Given the description of an element on the screen output the (x, y) to click on. 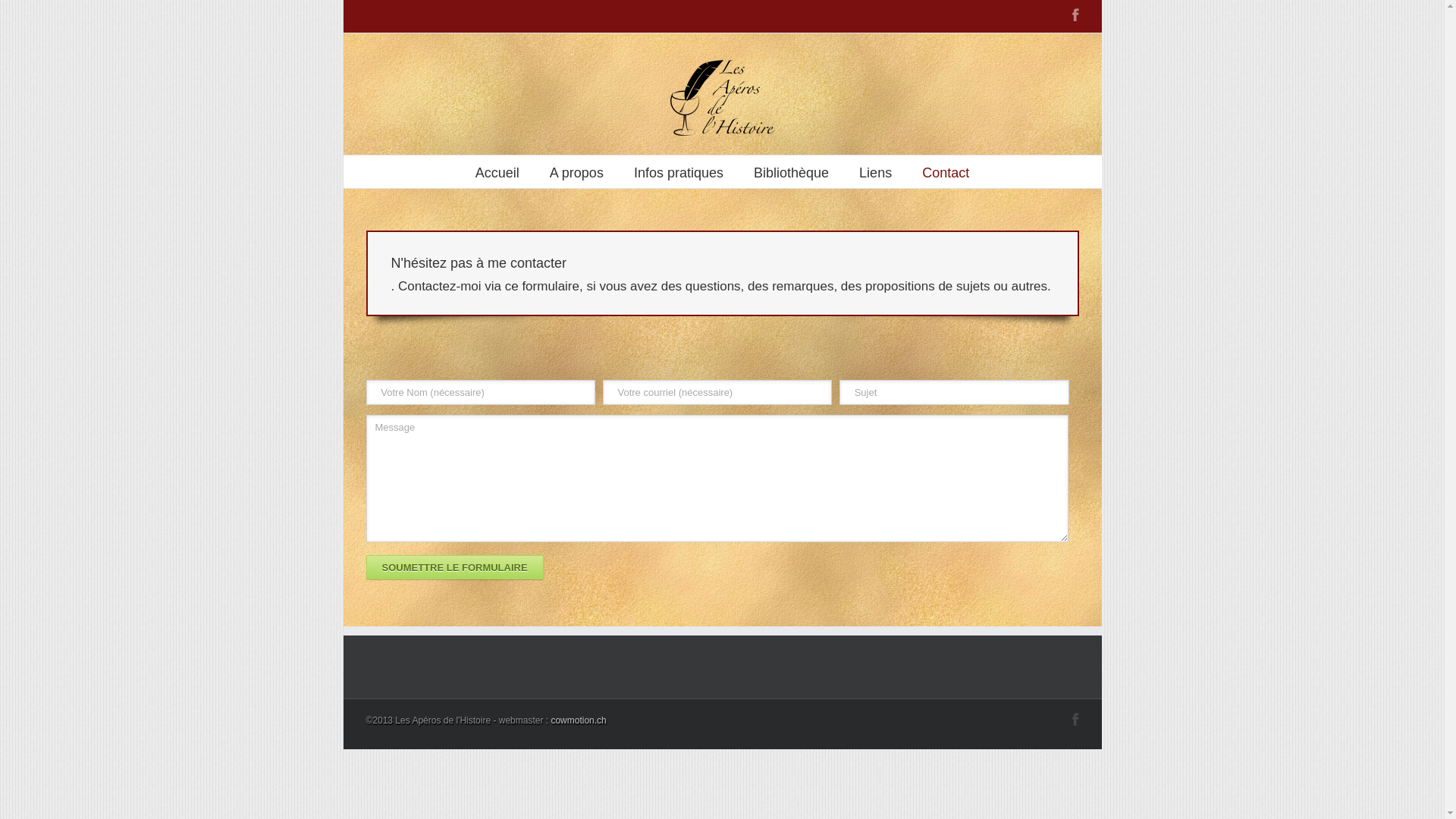
Accueil Element type: text (497, 171)
A propos Element type: text (576, 171)
Contact Element type: text (945, 171)
Soumettre le formulaire Element type: text (453, 567)
Liens Element type: text (875, 171)
Facebook Element type: text (1075, 718)
Infos pratiques Element type: text (678, 171)
Facebook Element type: text (1075, 14)
cowmotion.ch Element type: text (577, 720)
